Given the description of an element on the screen output the (x, y) to click on. 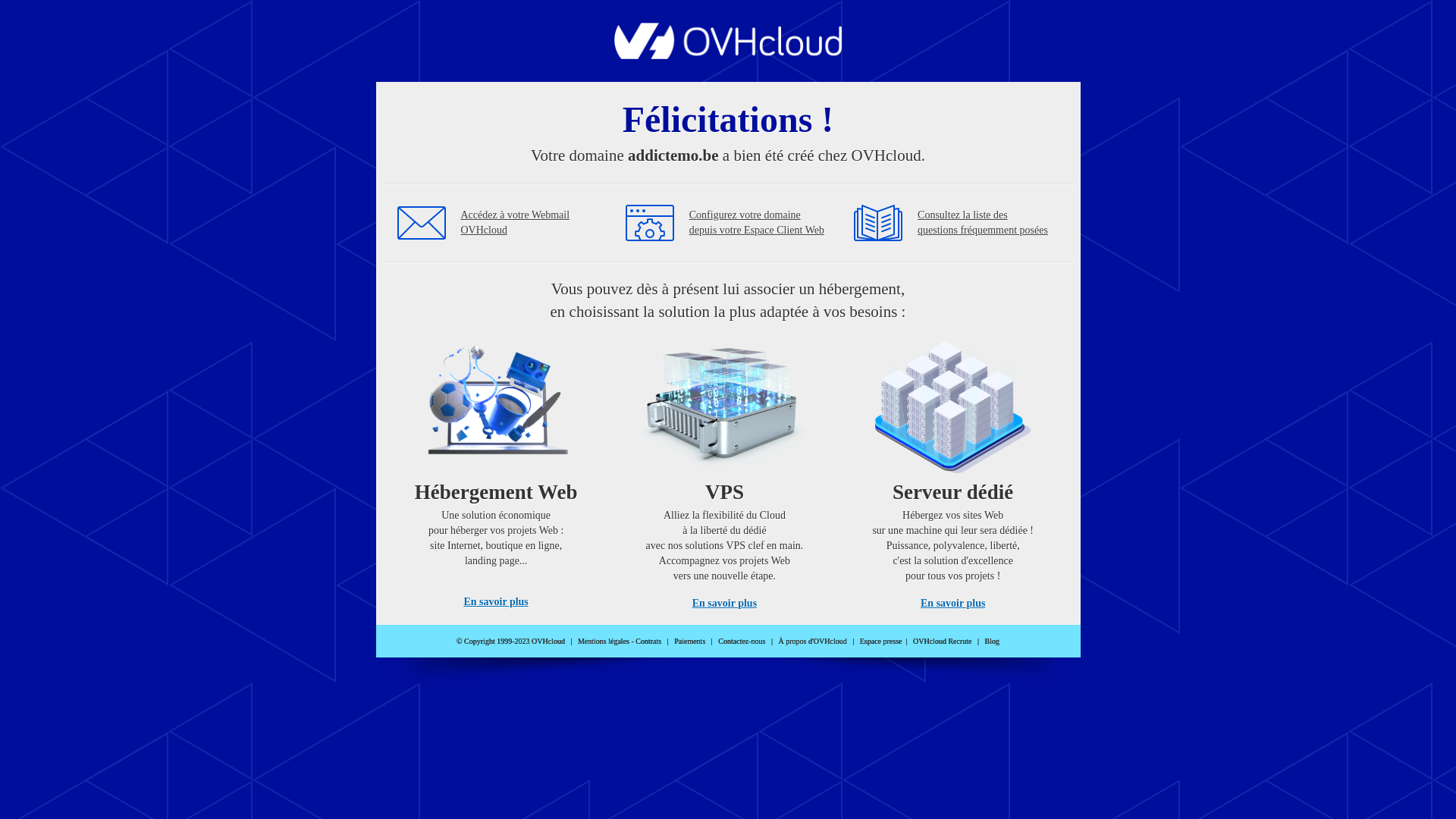
En savoir plus Element type: text (952, 602)
Paiements Element type: text (689, 641)
Contactez-nous Element type: text (741, 641)
Configurez votre domaine
depuis votre Espace Client Web Element type: text (756, 222)
Blog Element type: text (992, 641)
VPS Element type: hover (724, 469)
Espace presse Element type: text (880, 641)
En savoir plus Element type: text (724, 602)
OVHcloud Element type: hover (727, 54)
En savoir plus Element type: text (495, 601)
OVHcloud Recrute Element type: text (942, 641)
